Given the description of an element on the screen output the (x, y) to click on. 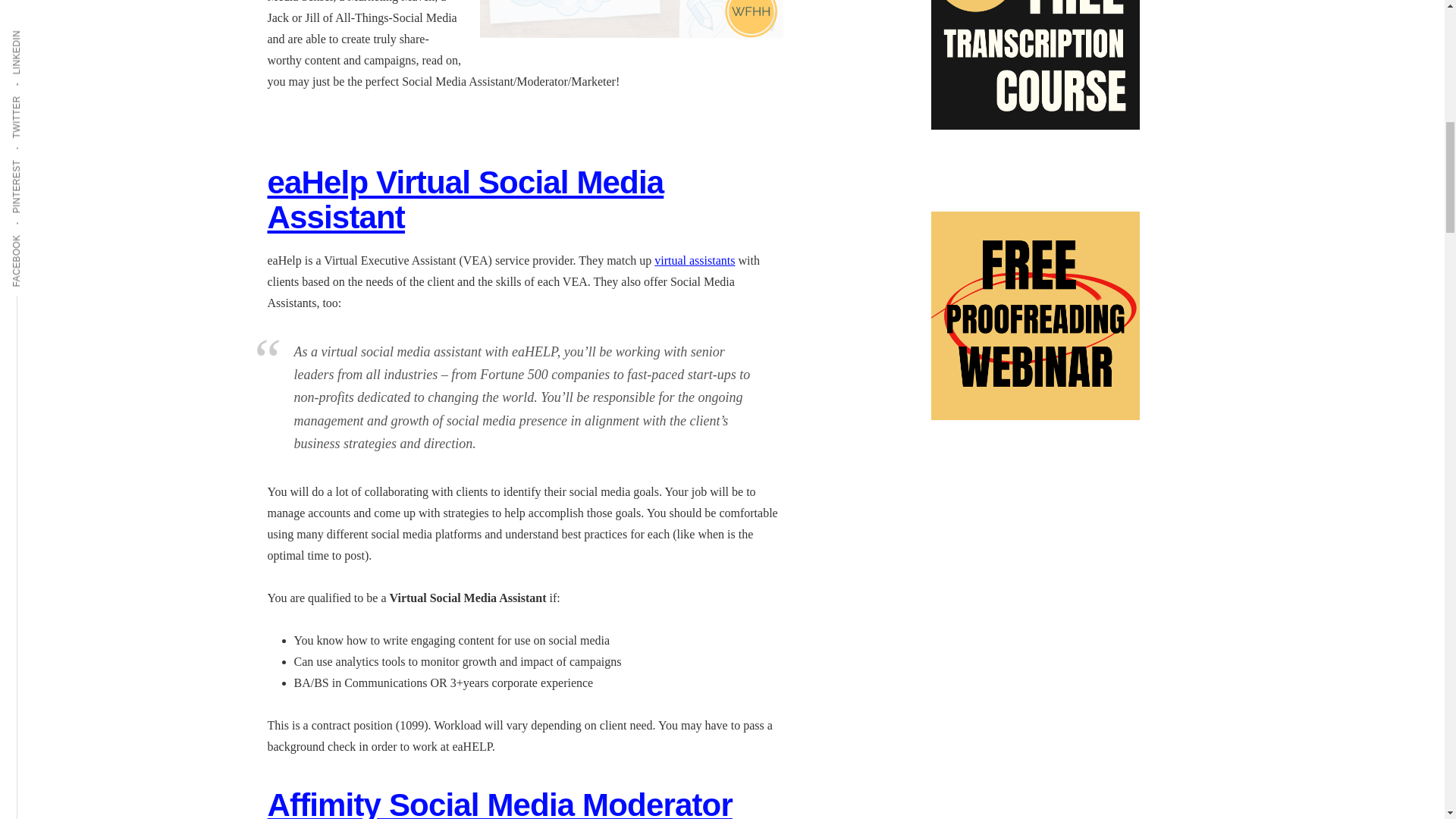
eaHelp Virtual Social Media Assistant (464, 199)
virtual assistants (694, 259)
Affimity Social Media Moderator (499, 803)
